Given the description of an element on the screen output the (x, y) to click on. 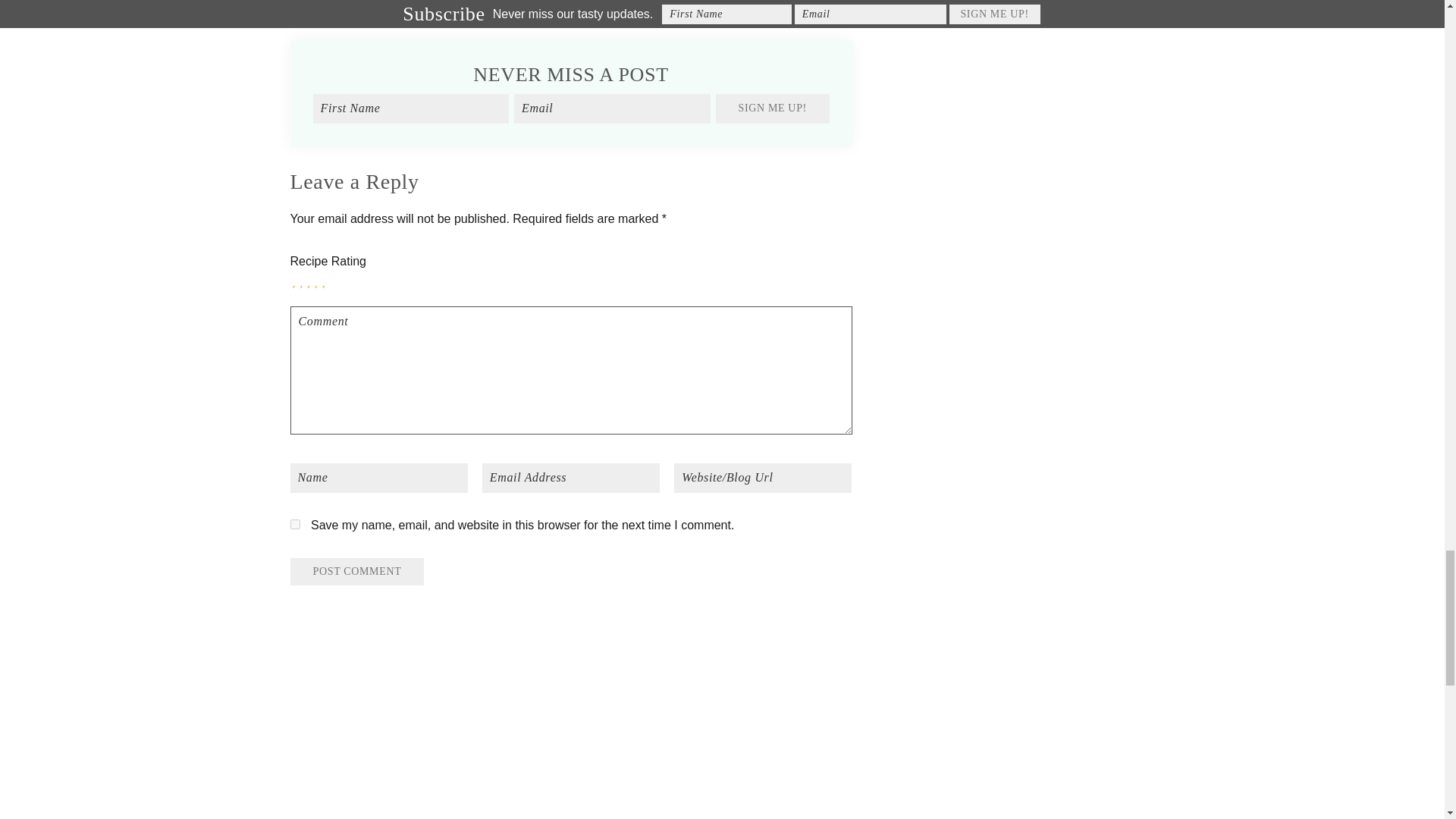
Post Comment (356, 571)
SIGN ME UP! (772, 108)
yes (294, 524)
